Given the description of an element on the screen output the (x, y) to click on. 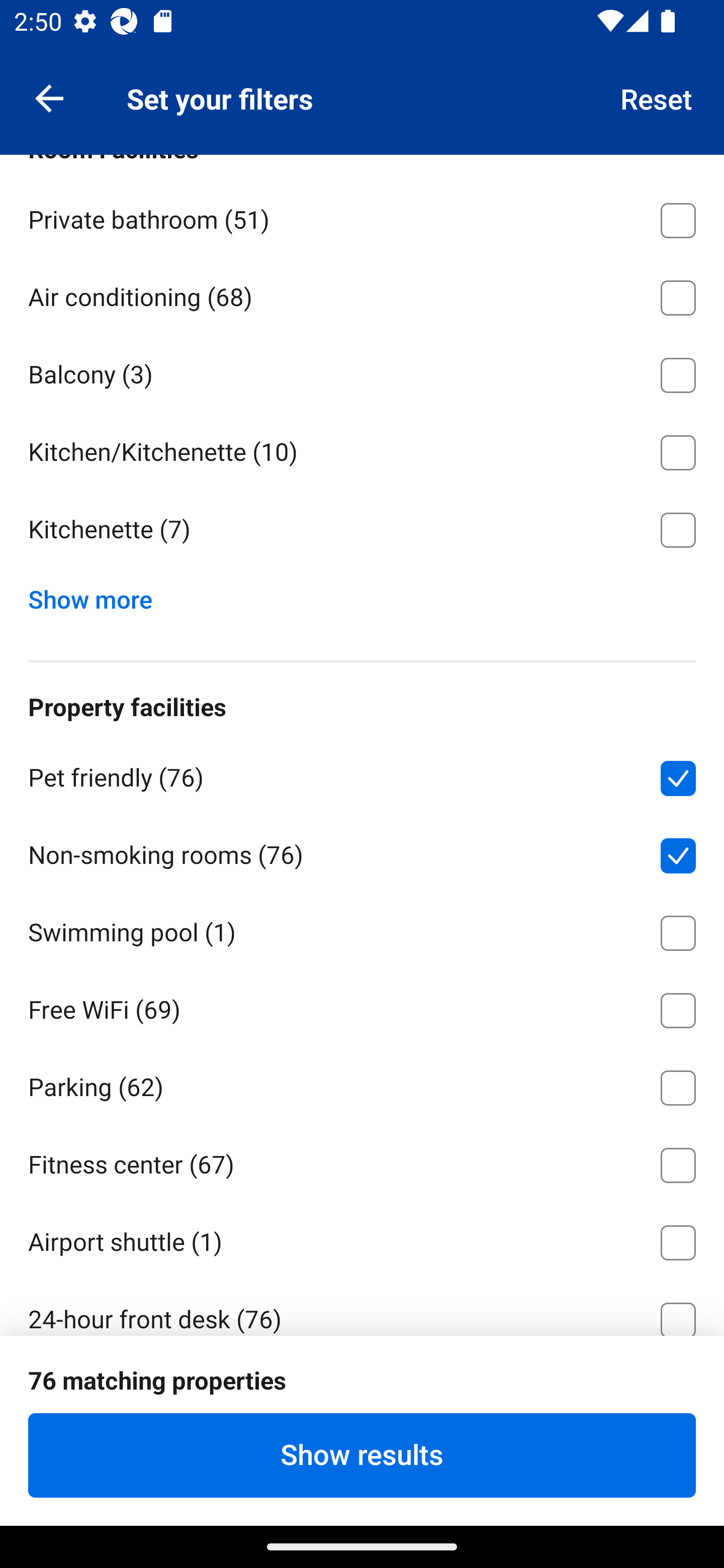
Navigate up (49, 97)
Reset (656, 97)
Private bathroom ⁦(51) (361, 216)
Air conditioning ⁦(68) (361, 293)
Balcony ⁦(3) (361, 371)
Kitchen/Kitchenette ⁦(10) (361, 448)
Kitchenette ⁦(7) (361, 529)
Show more (97, 594)
Pet friendly ⁦(76) (361, 774)
Non-smoking rooms ⁦(76) (361, 851)
Swimming pool ⁦(1) (361, 929)
Free WiFi ⁦(69) (361, 1007)
Parking ⁦(62) (361, 1083)
Fitness center ⁦(67) (361, 1161)
Airport shuttle ⁦(1) (361, 1239)
24-hour front desk ⁦(76) (361, 1306)
Restaurant ⁦(46) (361, 1393)
Show results (361, 1454)
